Given the description of an element on the screen output the (x, y) to click on. 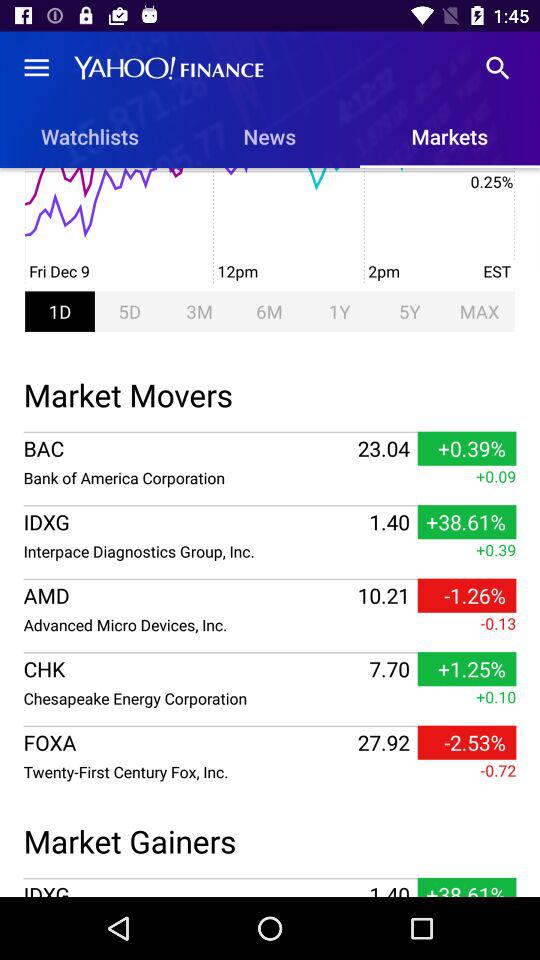
tap the icon next to the 23.04 item (187, 477)
